Given the description of an element on the screen output the (x, y) to click on. 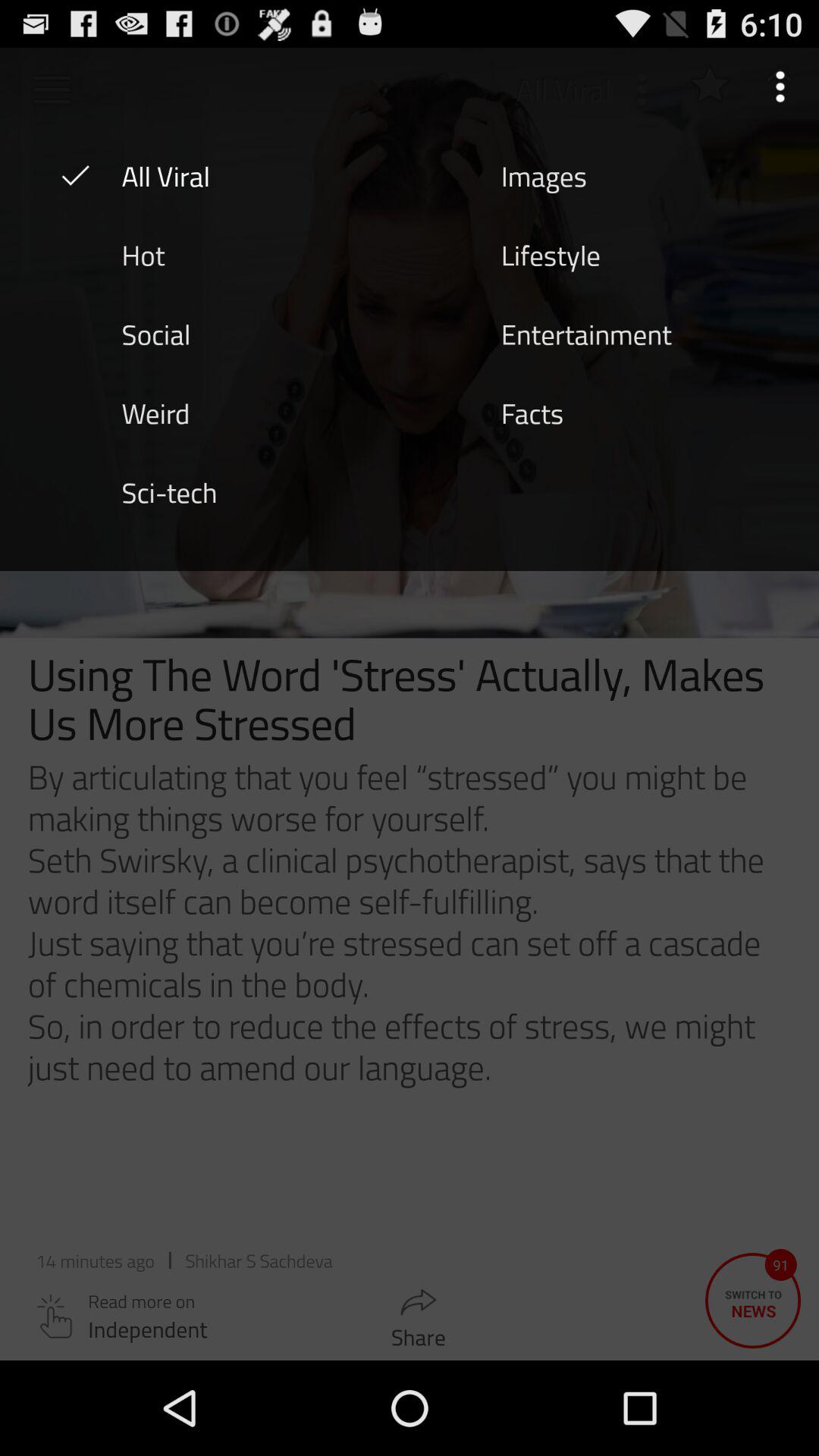
scroll until hot (143, 253)
